Given the description of an element on the screen output the (x, y) to click on. 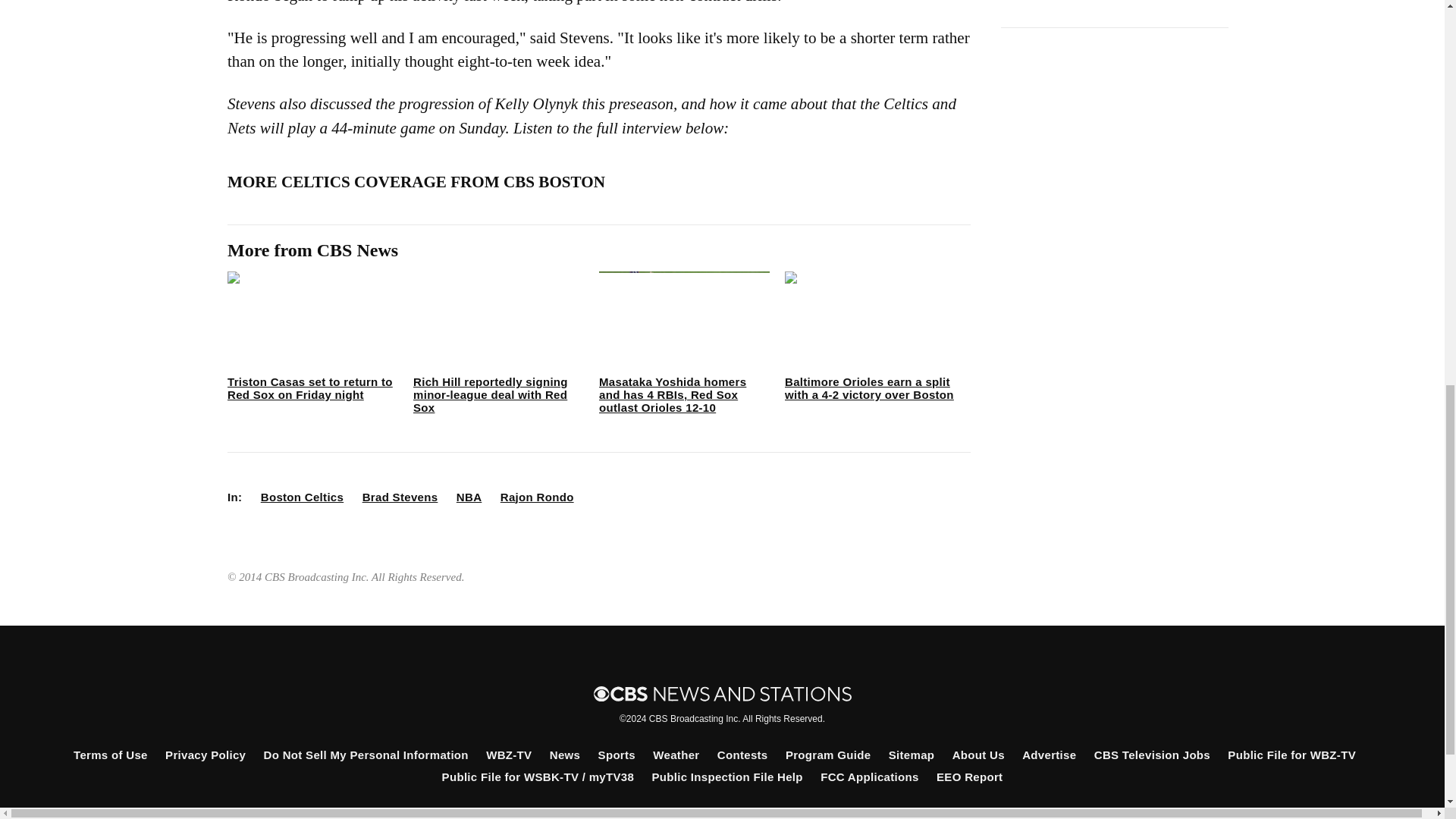
twitter (694, 813)
instagram (745, 813)
youtube (797, 813)
facebook (643, 813)
